Given the description of an element on the screen output the (x, y) to click on. 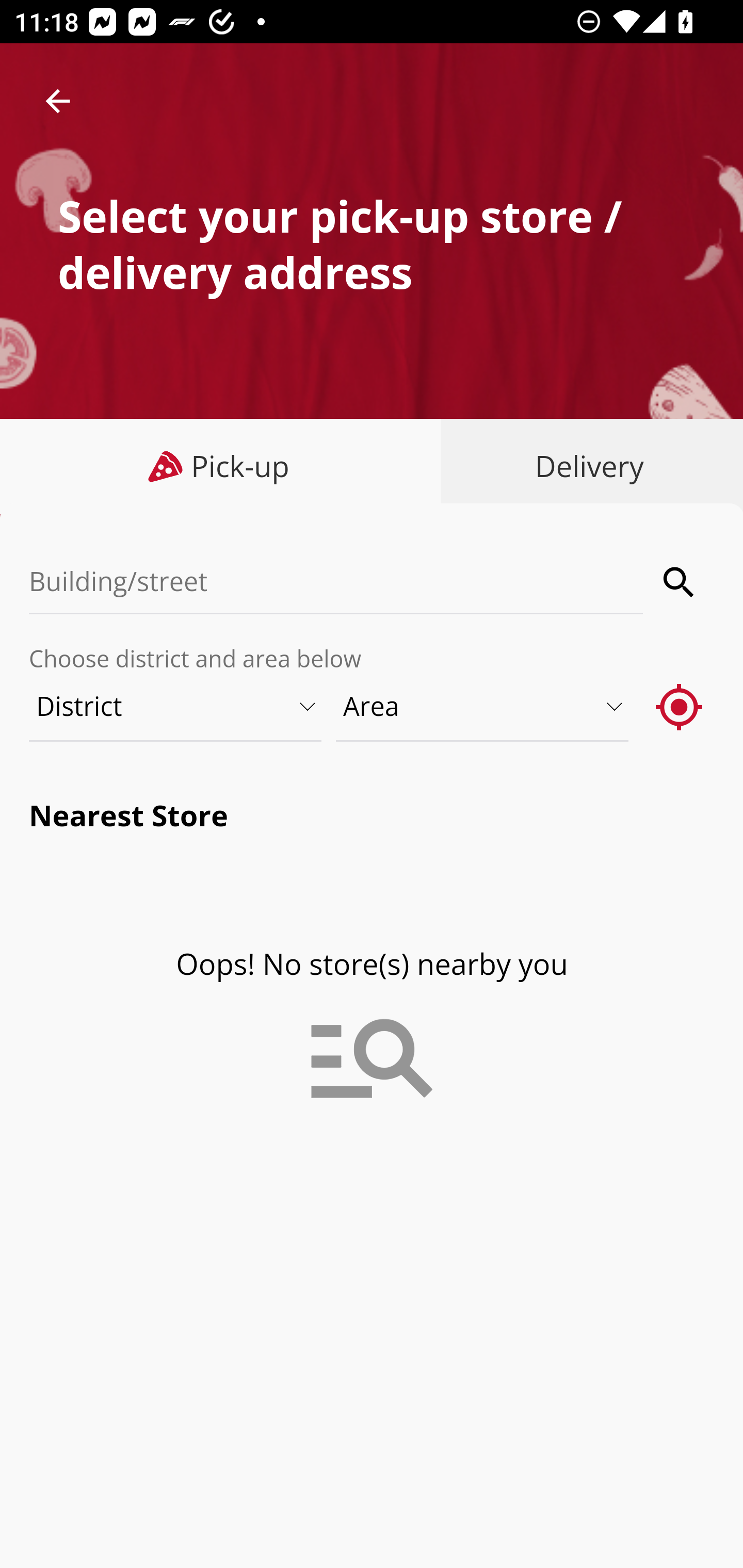
arrow_back (58, 100)
prev next Pick-up Delivery (371, 467)
Delivery (585, 466)
search (679, 582)
gps_fixed (679, 706)
District (175, 706)
Area (482, 706)
